Given the description of an element on the screen output the (x, y) to click on. 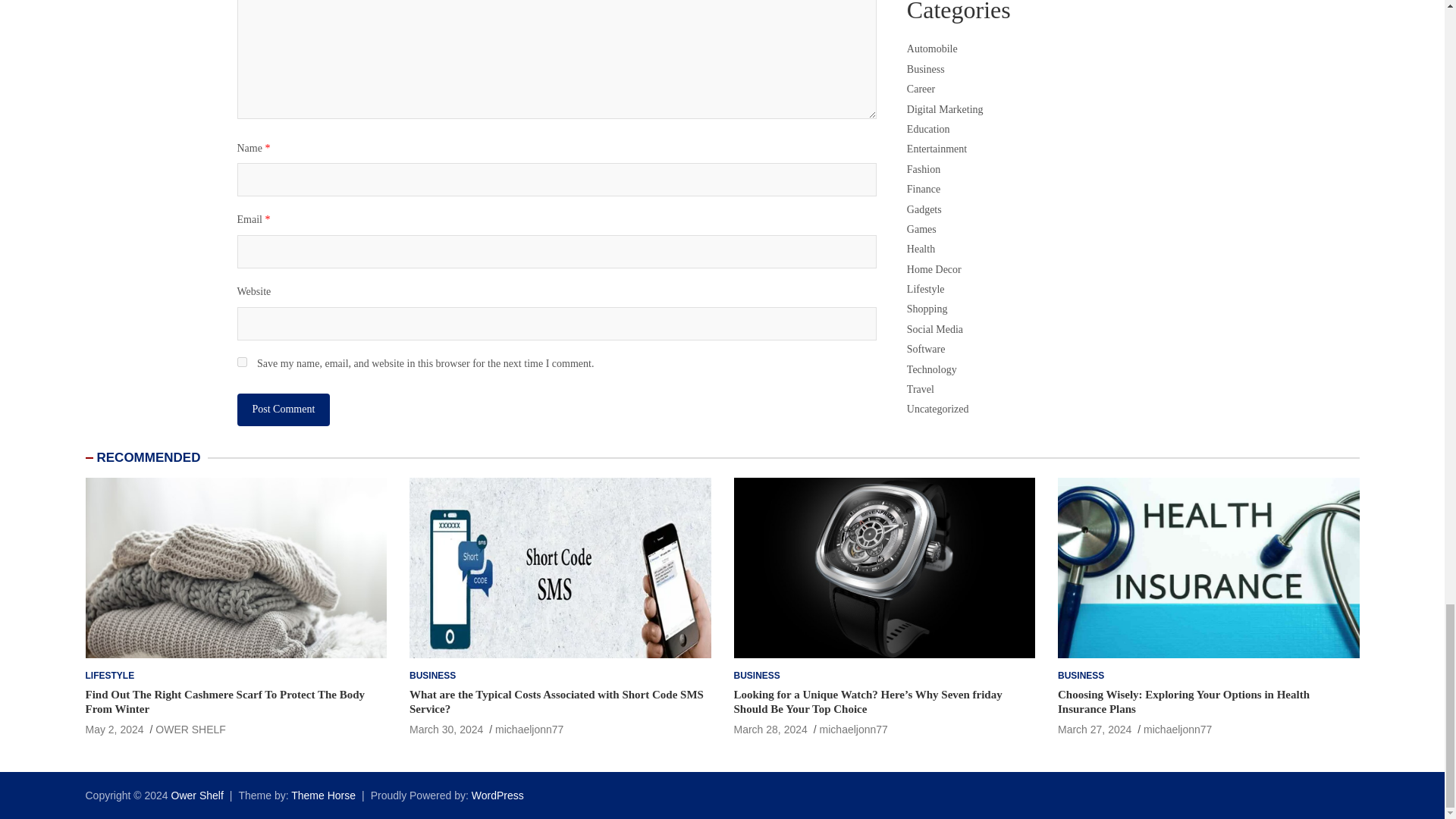
Theme Horse (323, 795)
WordPress (497, 795)
Post Comment (282, 409)
Ower Shelf (197, 795)
Post Comment (282, 409)
yes (240, 361)
